Given the description of an element on the screen output the (x, y) to click on. 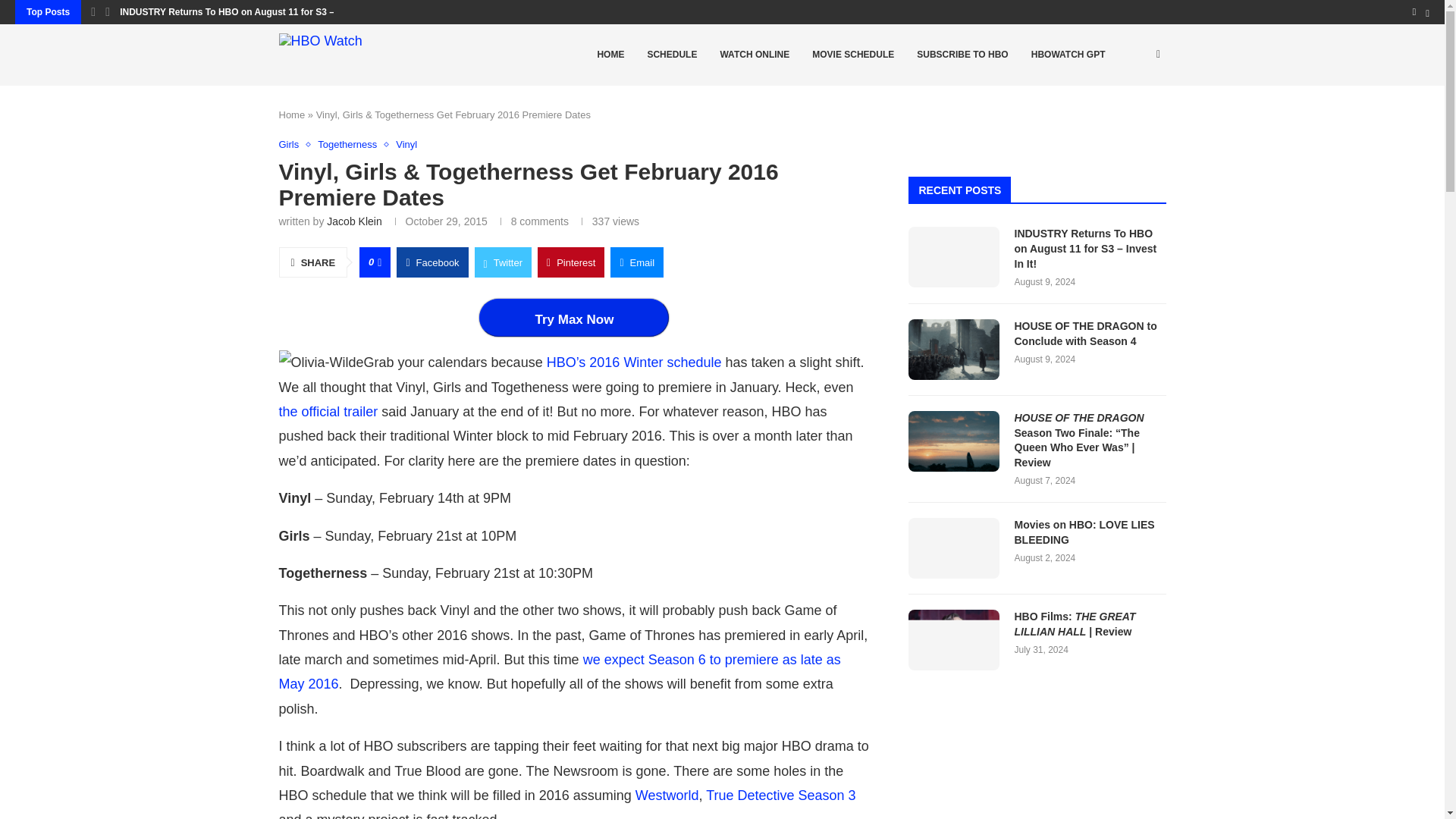
SUBSCRIBE TO HBO (962, 54)
HBO Schedule (670, 54)
Twitter (502, 262)
WATCH ONLINE (753, 54)
the official trailer (328, 411)
Watch HBO Live (753, 54)
Vinyl (406, 144)
HBOWATCH GPT (1068, 54)
New HBO Movies (852, 54)
Facebook (431, 262)
